Given the description of an element on the screen output the (x, y) to click on. 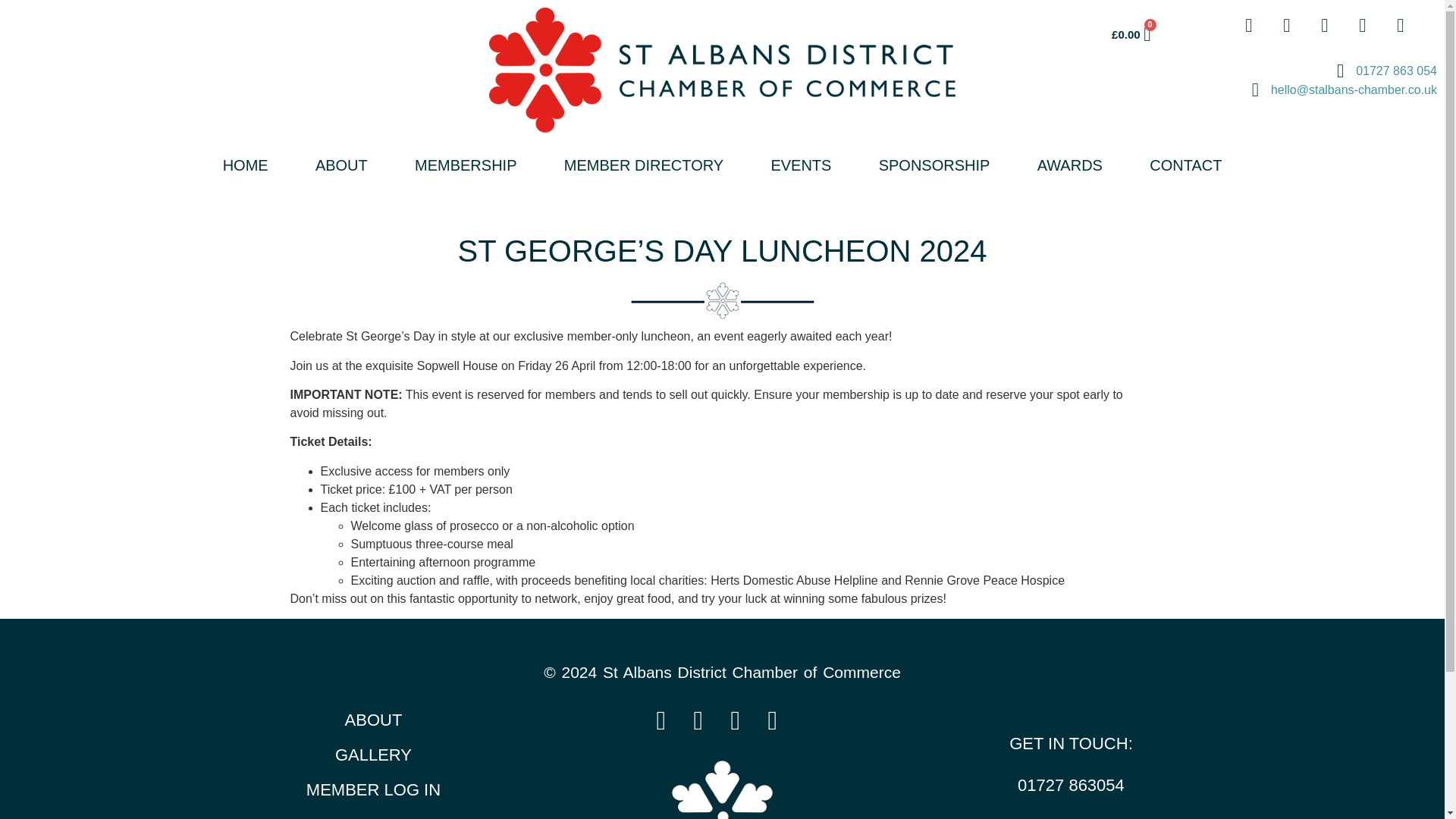
EVENTS (800, 165)
HOME (244, 165)
ABOUT (341, 165)
MEMBERSHIP (465, 165)
SPONSORSHIP (934, 165)
AWARDS (1069, 165)
CONTACT (1184, 165)
MEMBER DIRECTORY (644, 165)
01727 863 054 (1204, 70)
